Given the description of an element on the screen output the (x, y) to click on. 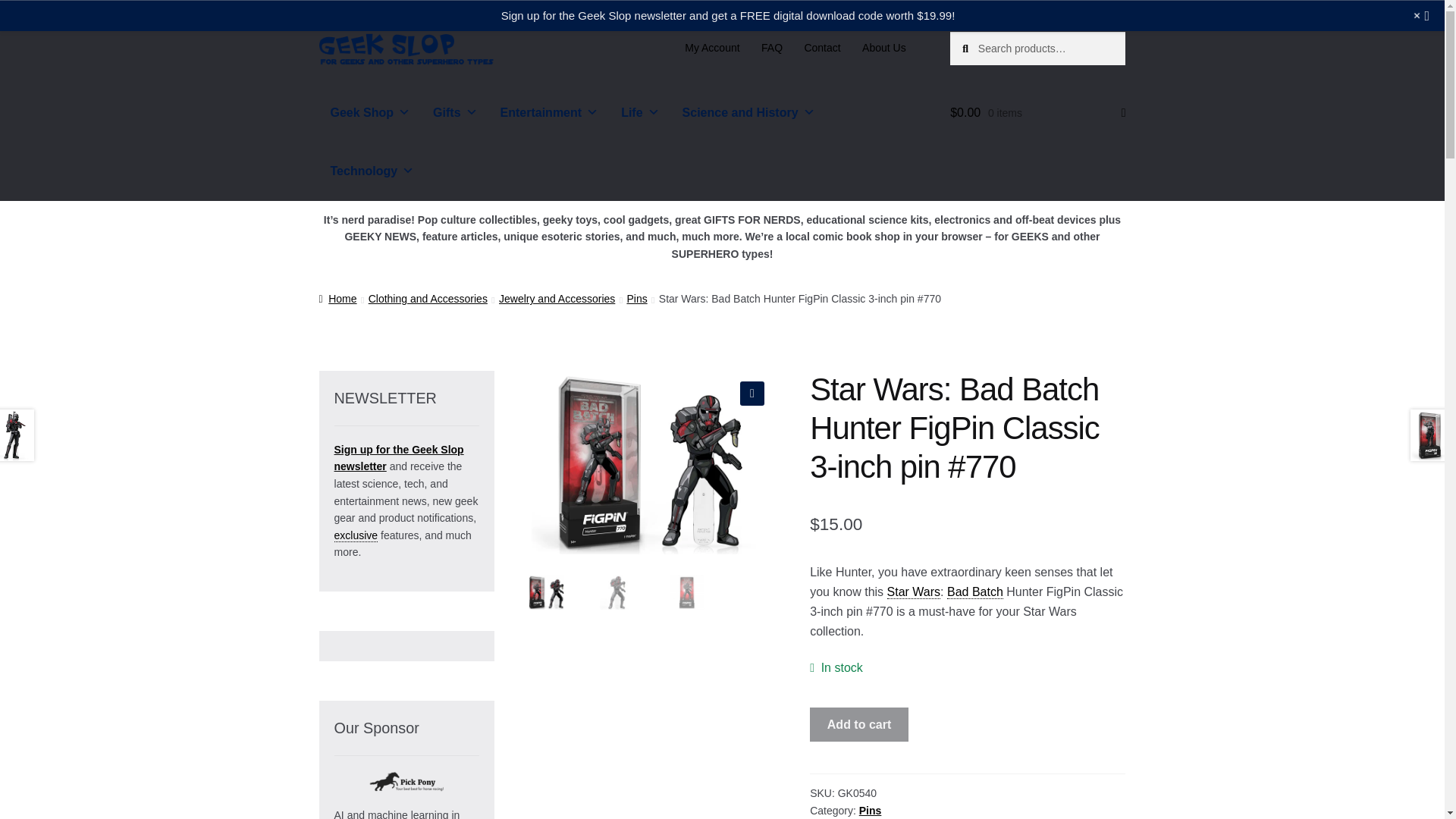
FAQ (772, 47)
Contact (822, 47)
Geek Shop (370, 112)
About Us (884, 47)
My Account (712, 47)
View your shopping cart (1037, 112)
